Given the description of an element on the screen output the (x, y) to click on. 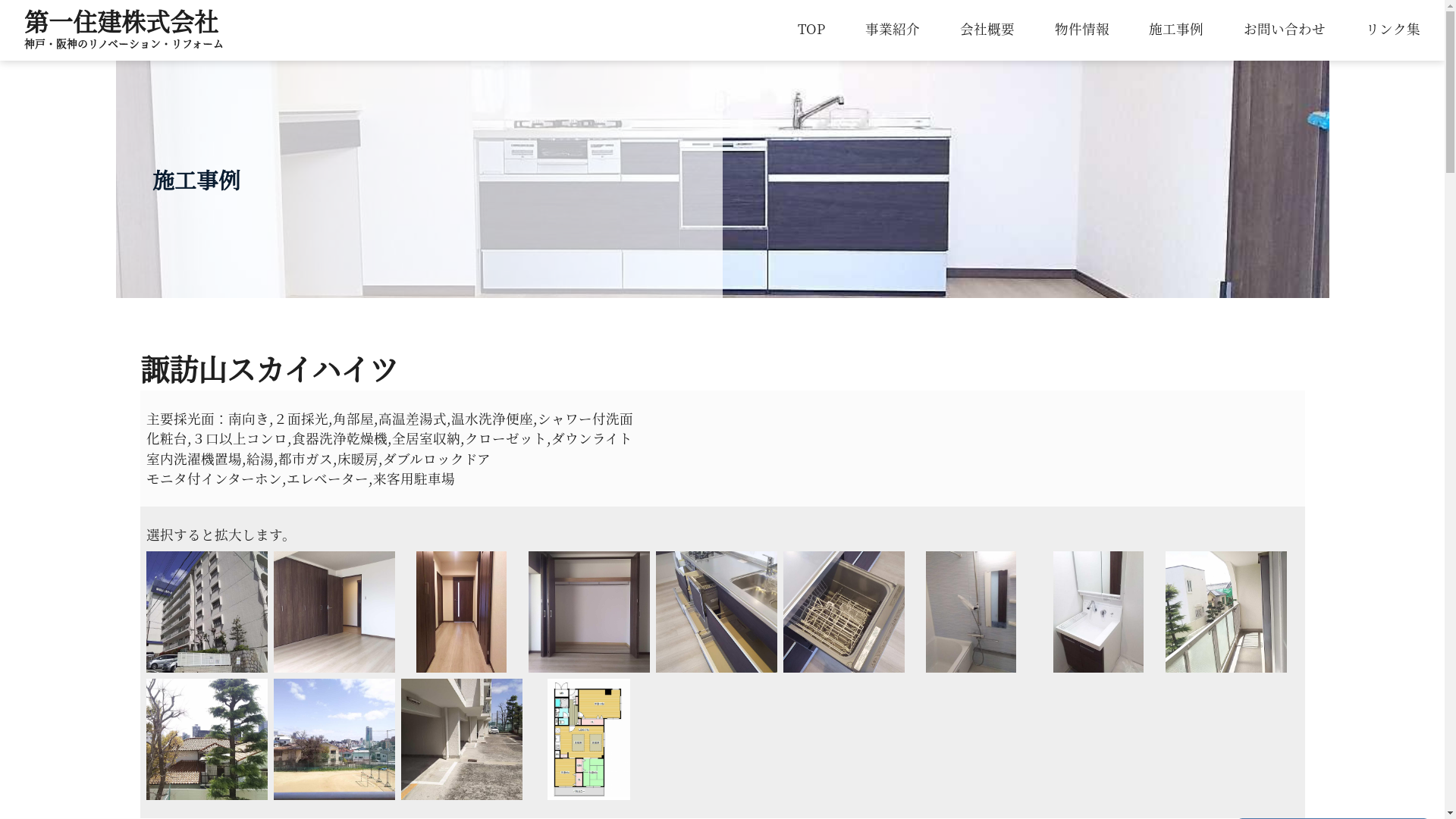
TOP Element type: text (811, 27)
